Given the description of an element on the screen output the (x, y) to click on. 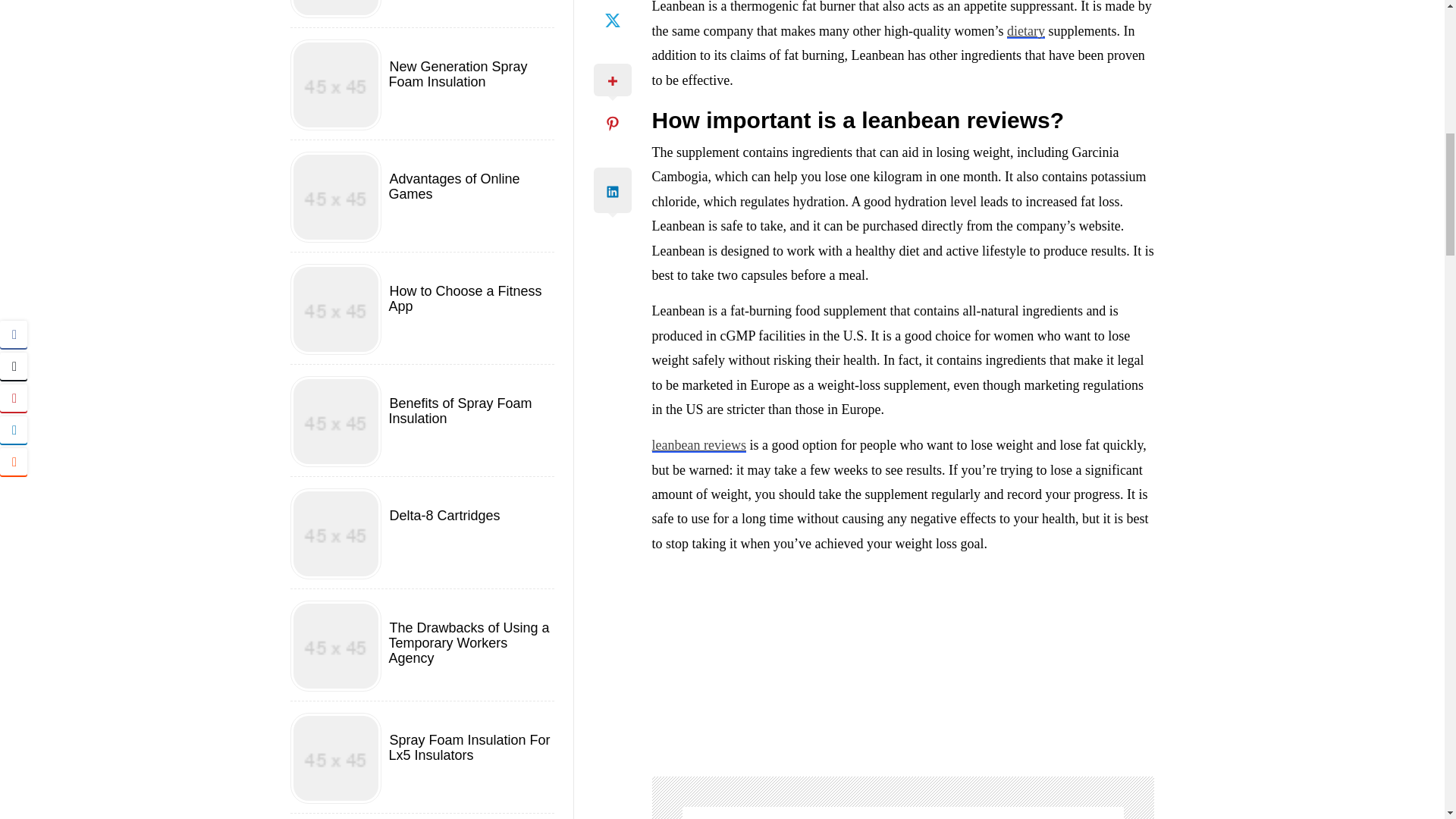
dietary (1026, 30)
leanbean reviews (698, 444)
